Given the description of an element on the screen output the (x, y) to click on. 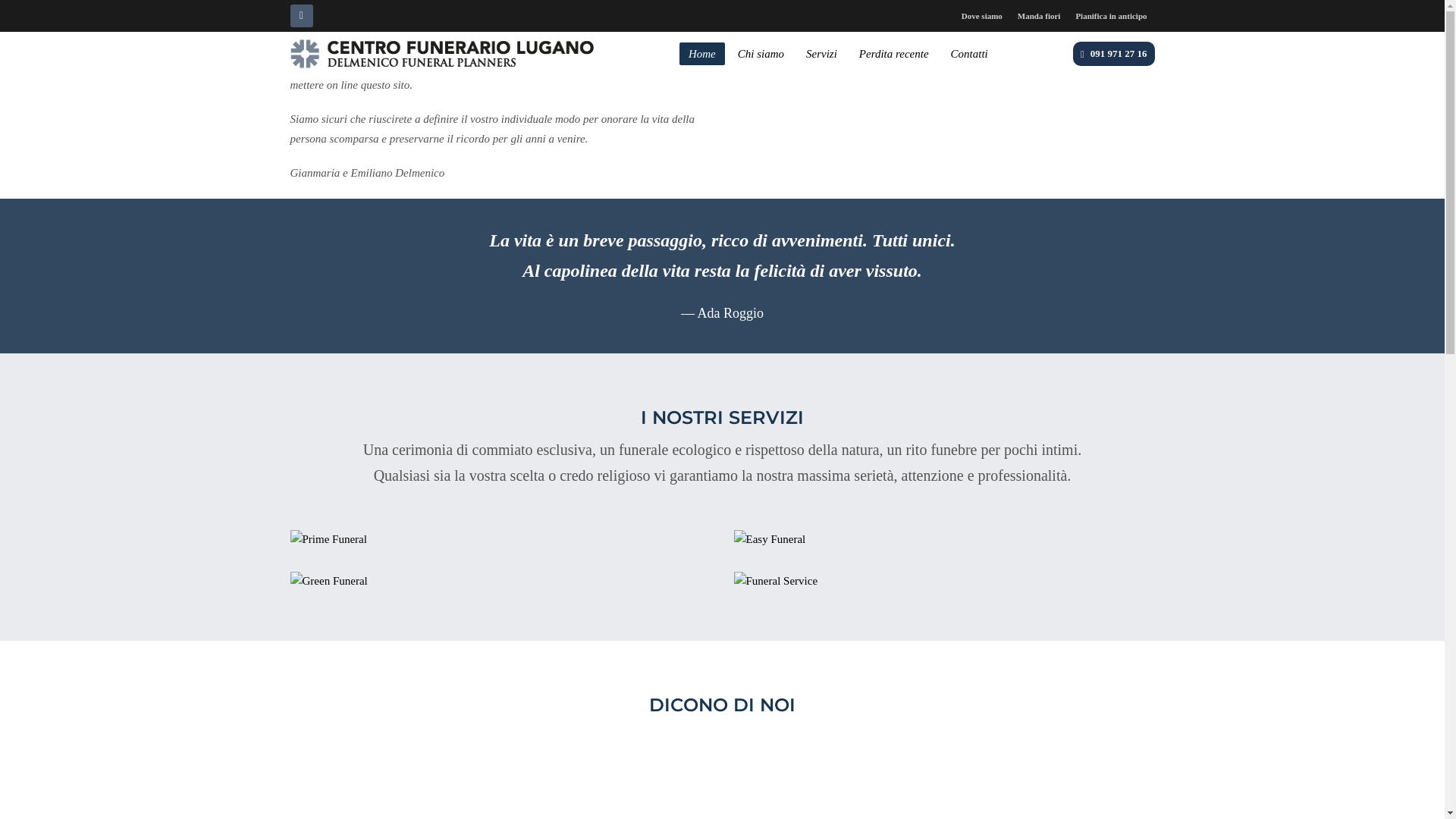
Perdita recente Element type: text (894, 53)
Dove siamo Element type: text (981, 15)
Contatti Element type: text (969, 53)
Csa funeraria Element type: hover (944, 539)
Funerali ecosostenibili Element type: hover (499, 581)
Servizi Element type: text (821, 53)
Manda fiori Element type: text (1038, 15)
Chi siamo Element type: text (760, 53)
Cerimonie personalizzate Element type: hover (499, 539)
Home Element type: text (701, 53)
Pianifica in anticipo Element type: text (1110, 15)
091 971 27 16 Element type: text (1113, 53)
servizi cimiteriali Element type: hover (944, 581)
Facebook Element type: hover (300, 15)
